Given the description of an element on the screen output the (x, y) to click on. 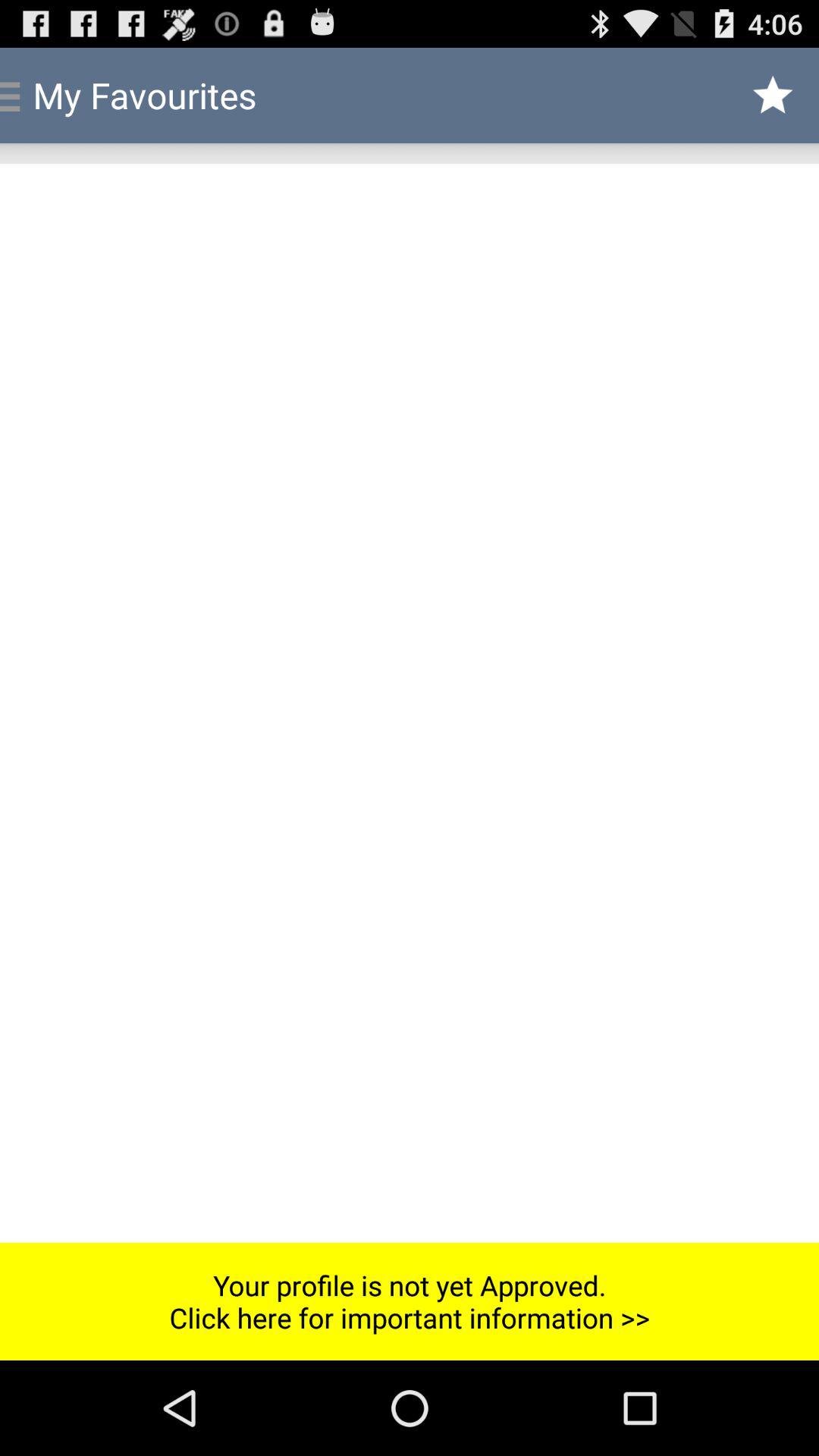
select icon above the your profile is item (409, 702)
